Given the description of an element on the screen output the (x, y) to click on. 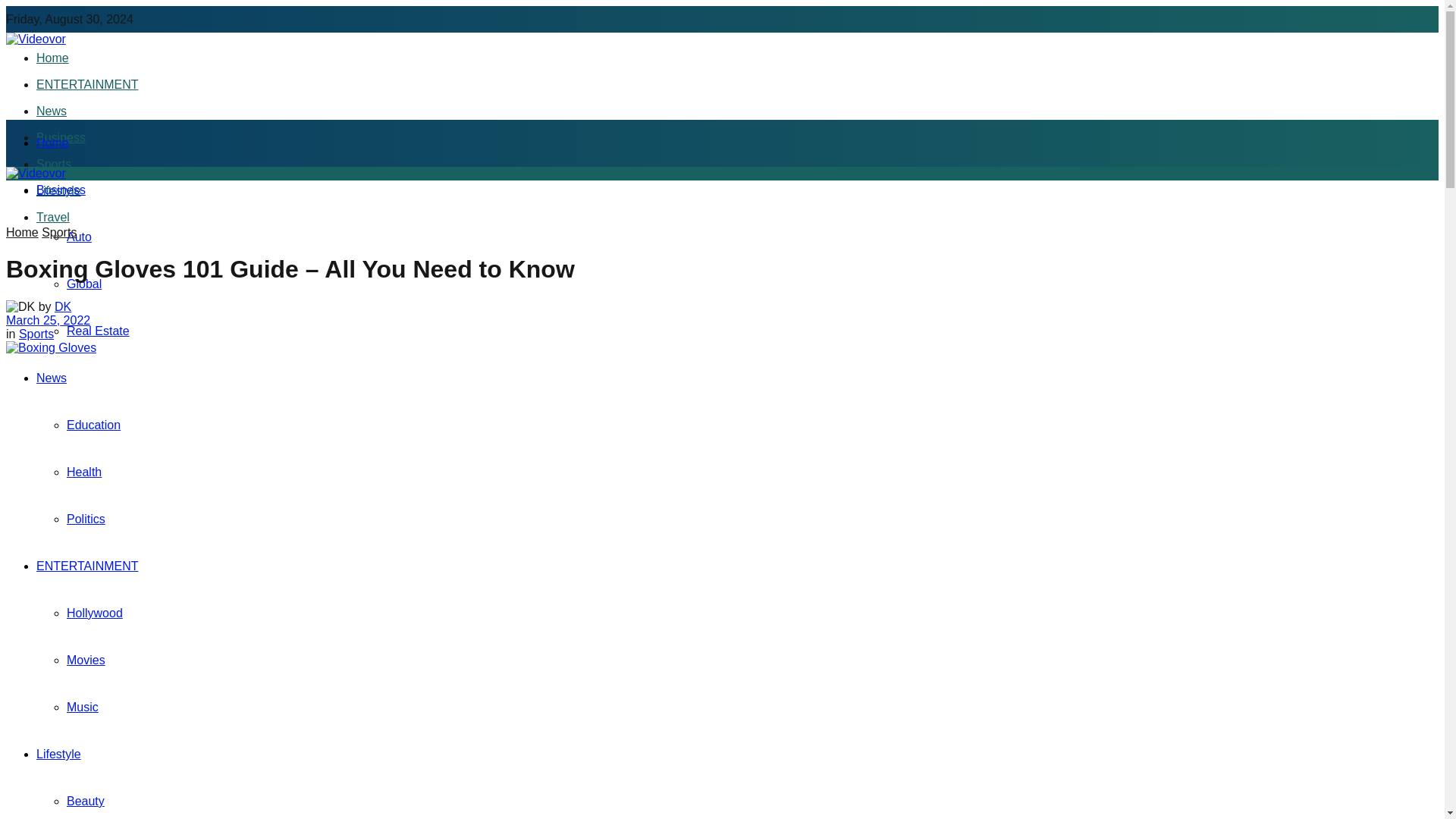
Business (60, 189)
Music (82, 707)
Sports (53, 164)
Health (83, 472)
ENTERTAINMENT (87, 83)
Movies (85, 659)
Education (93, 424)
Beauty (85, 800)
Travel (52, 216)
Politics (85, 518)
